Given the description of an element on the screen output the (x, y) to click on. 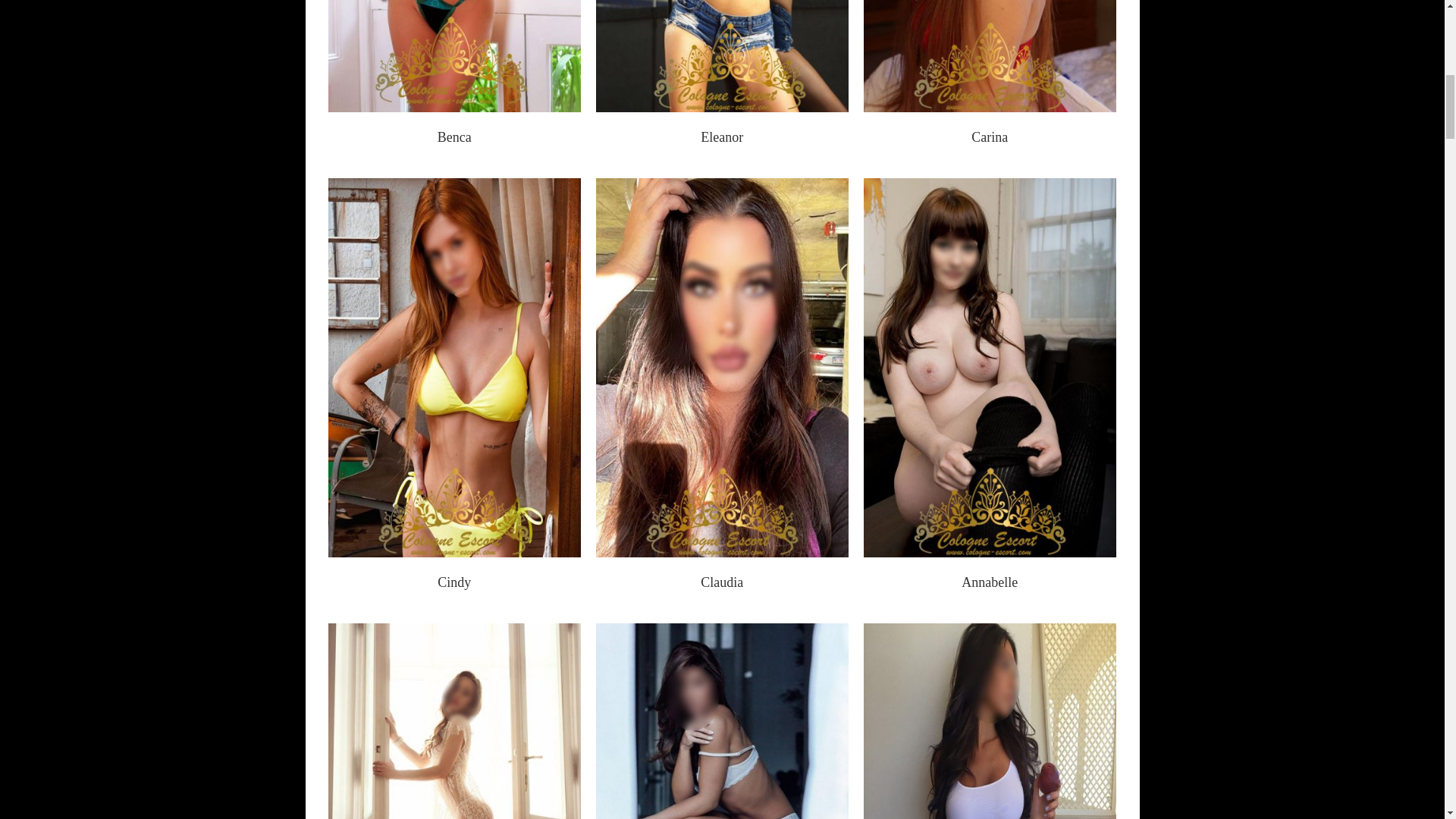
Benca (454, 136)
Carina (989, 136)
Eleanor (721, 136)
